Given the description of an element on the screen output the (x, y) to click on. 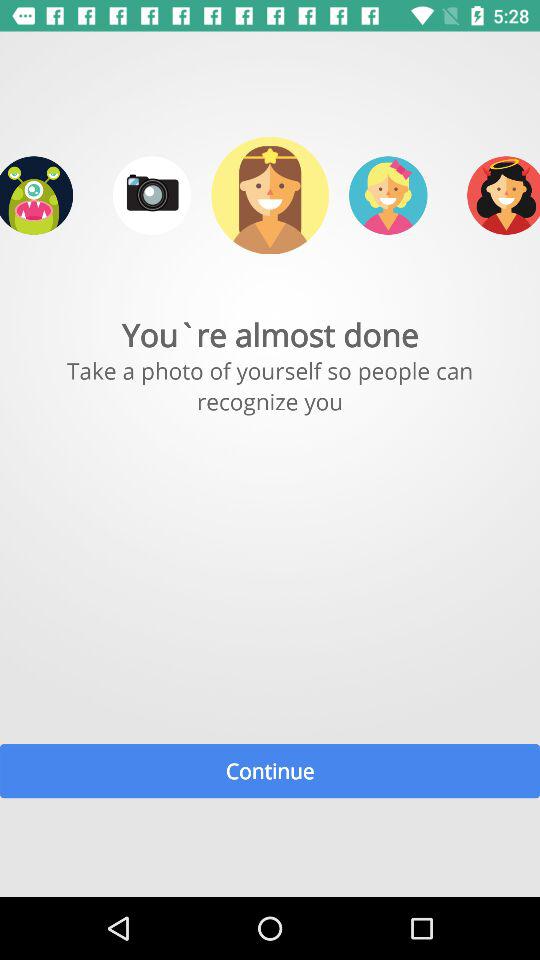
open the icon below take a photo item (270, 770)
